Given the description of an element on the screen output the (x, y) to click on. 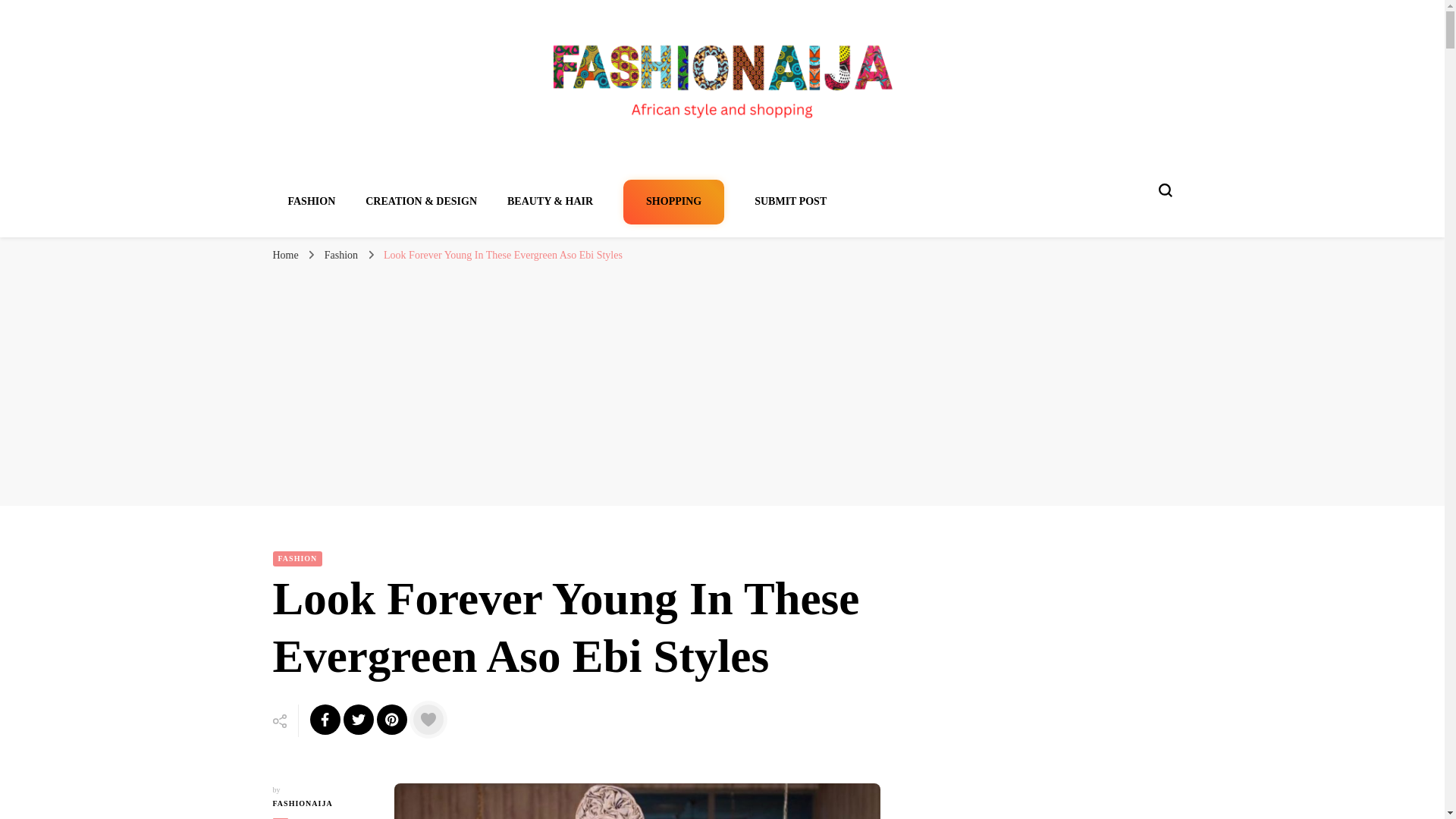
SUBMIT POST (790, 201)
FASHIONAIJA (322, 803)
FASHION (312, 201)
Look Forever Young In These Evergreen Aso Ebi Styles (503, 255)
SHOPPING (673, 201)
Fashionaija (335, 143)
FASHION (298, 558)
Fashion (342, 255)
Home (285, 255)
